Given the description of an element on the screen output the (x, y) to click on. 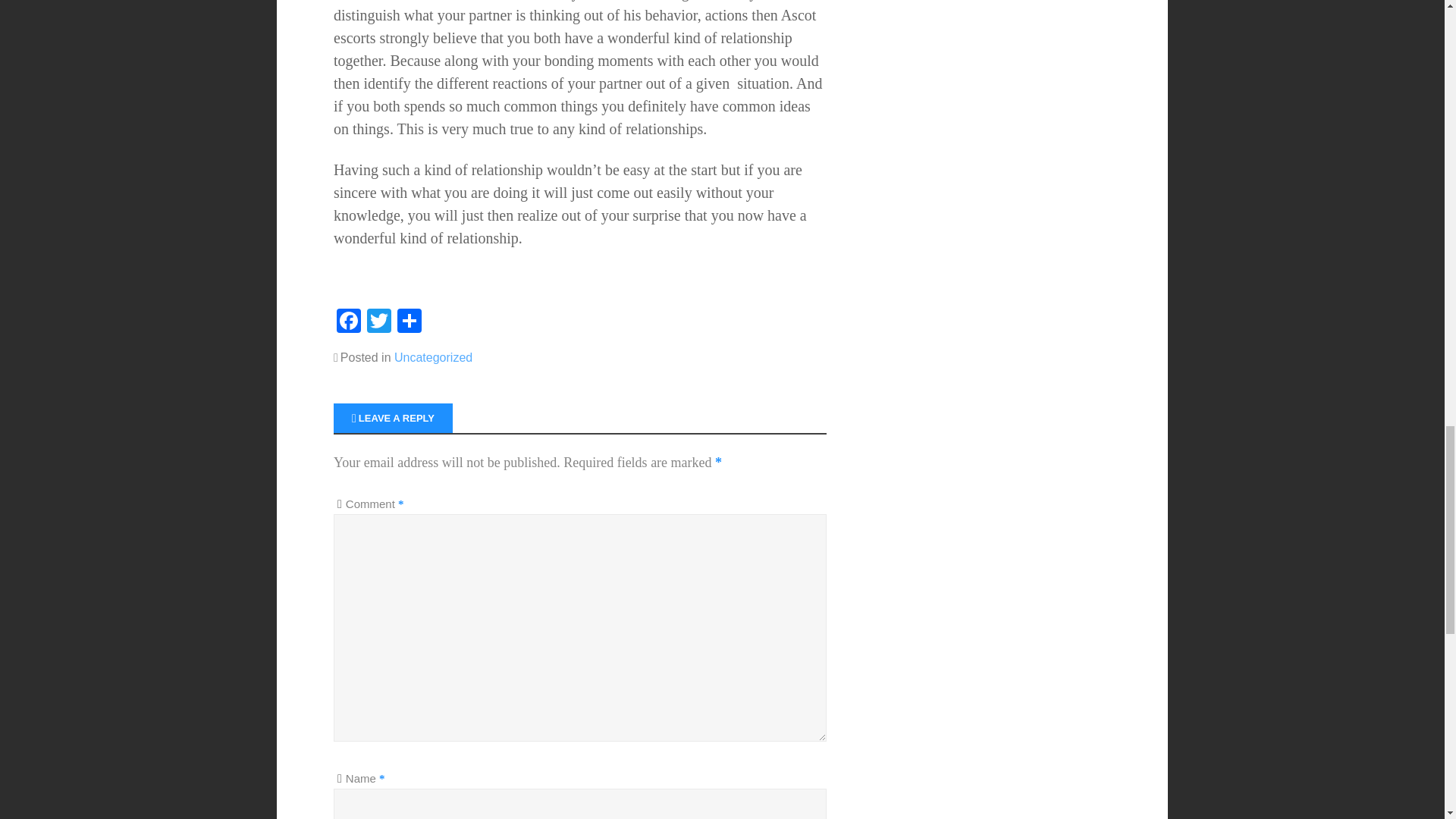
Twitter (379, 322)
Facebook (348, 322)
Uncategorized (432, 357)
Twitter (379, 322)
Facebook (348, 322)
